Given the description of an element on the screen output the (x, y) to click on. 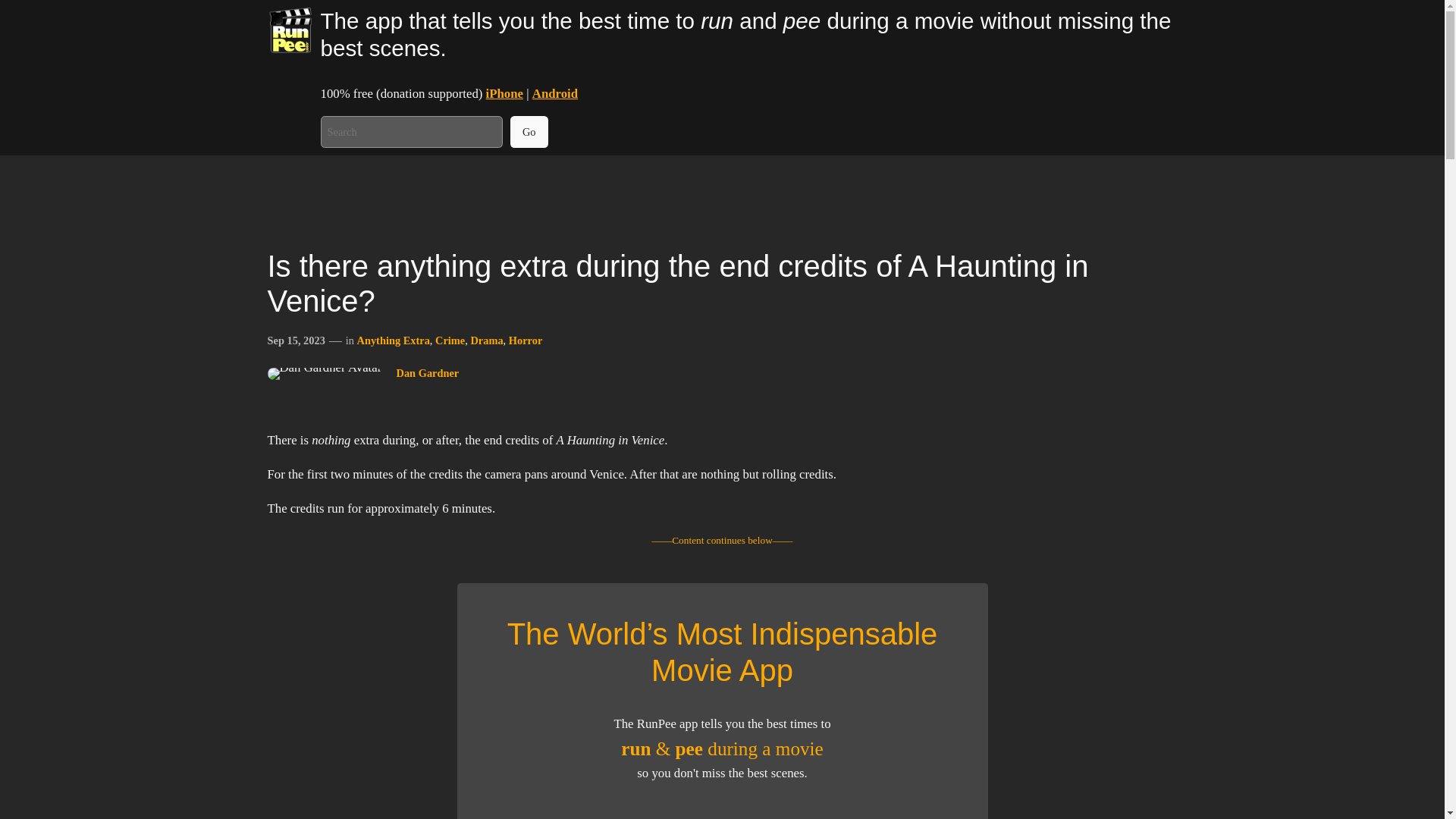
Go (529, 132)
Horror (525, 340)
Crime (449, 340)
Sep 15, 2023 (295, 340)
iPhone (504, 93)
Drama (486, 340)
Android (555, 93)
Anything Extra (392, 340)
Dan Gardner (427, 372)
